Given the description of an element on the screen output the (x, y) to click on. 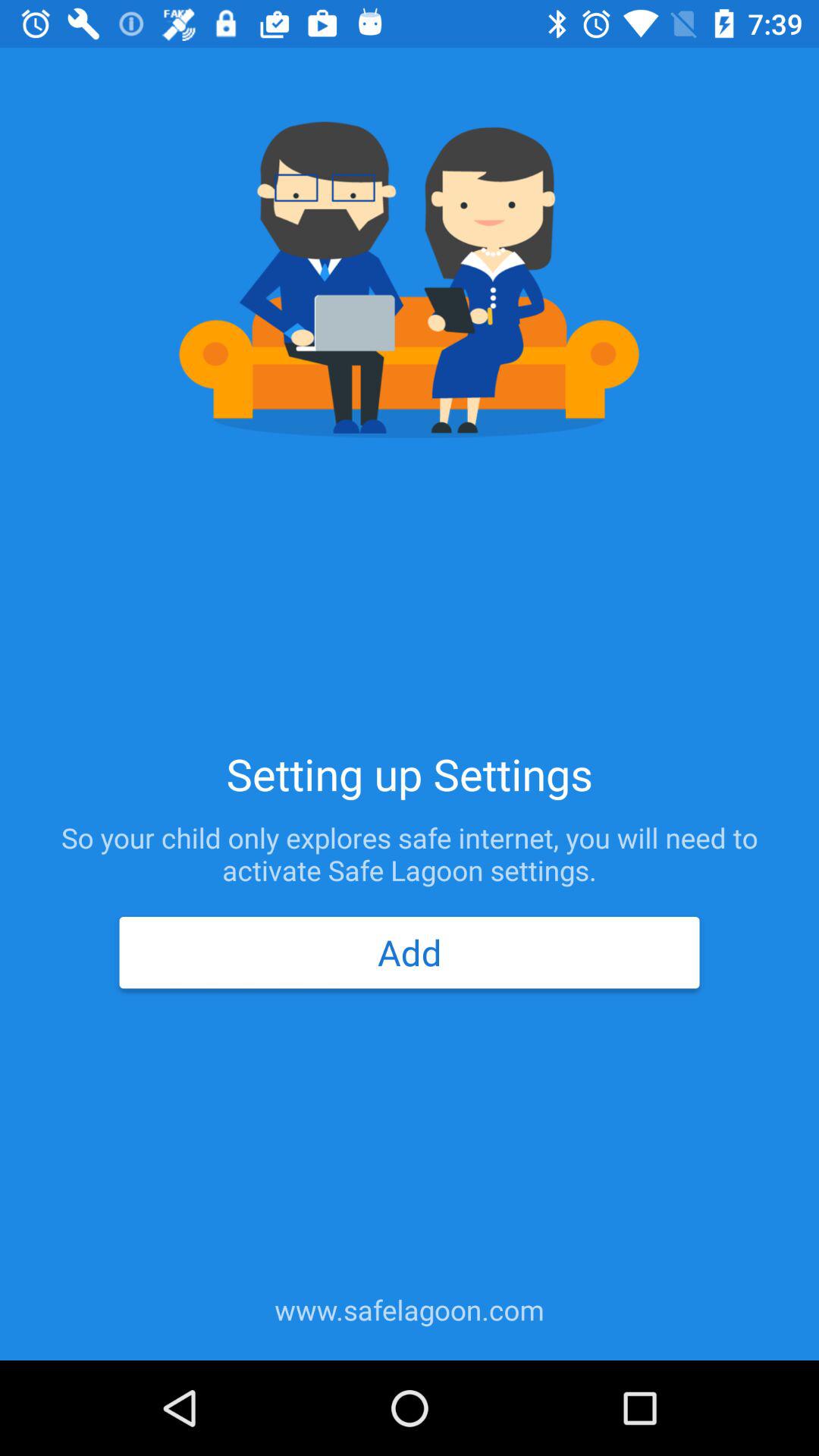
turn on the icon below the so your child item (409, 952)
